Given the description of an element on the screen output the (x, y) to click on. 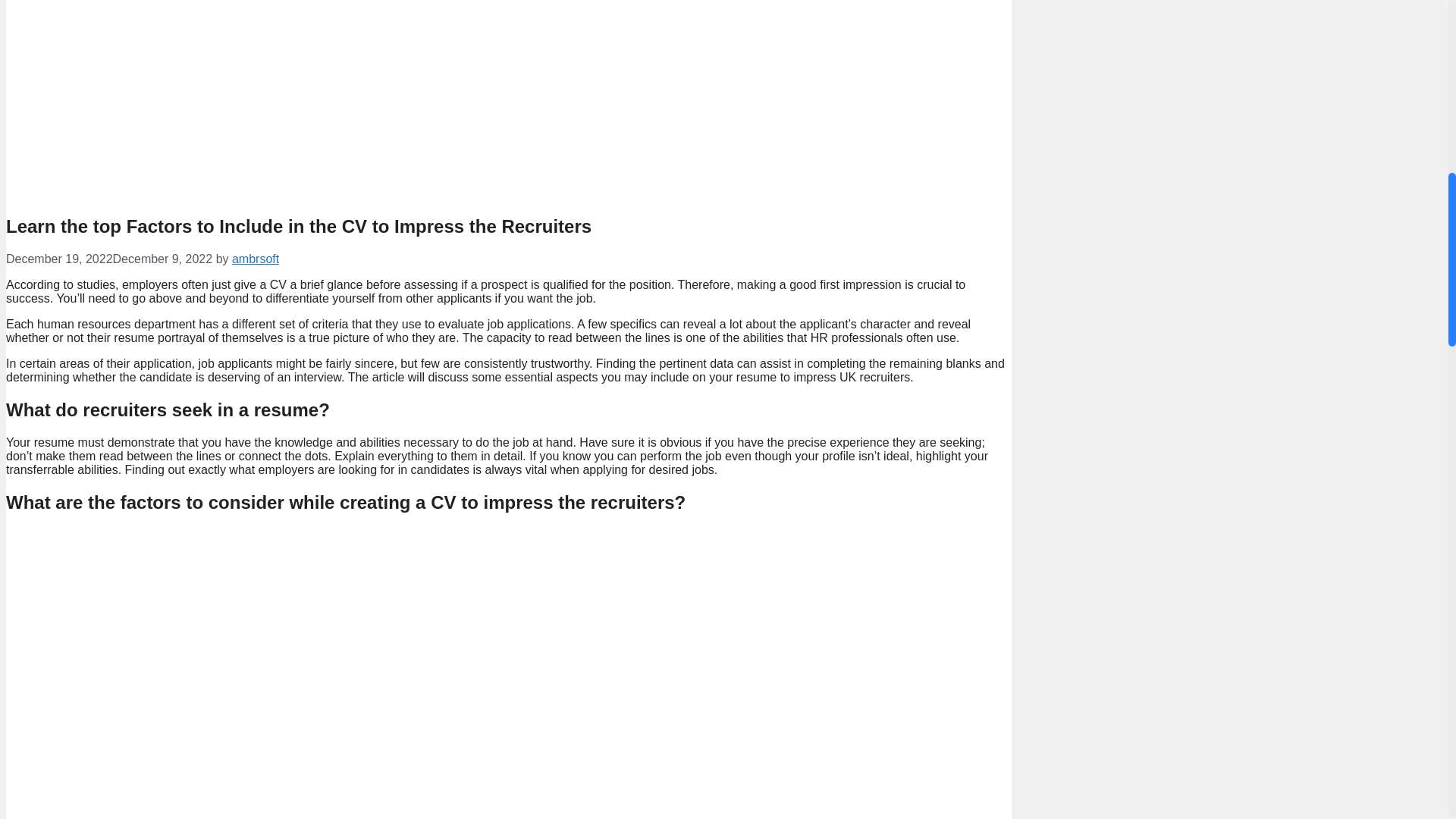
Scroll back to top (1409, 720)
ambrsoft (255, 258)
View all posts by ambrsoft (255, 258)
